Given the description of an element on the screen output the (x, y) to click on. 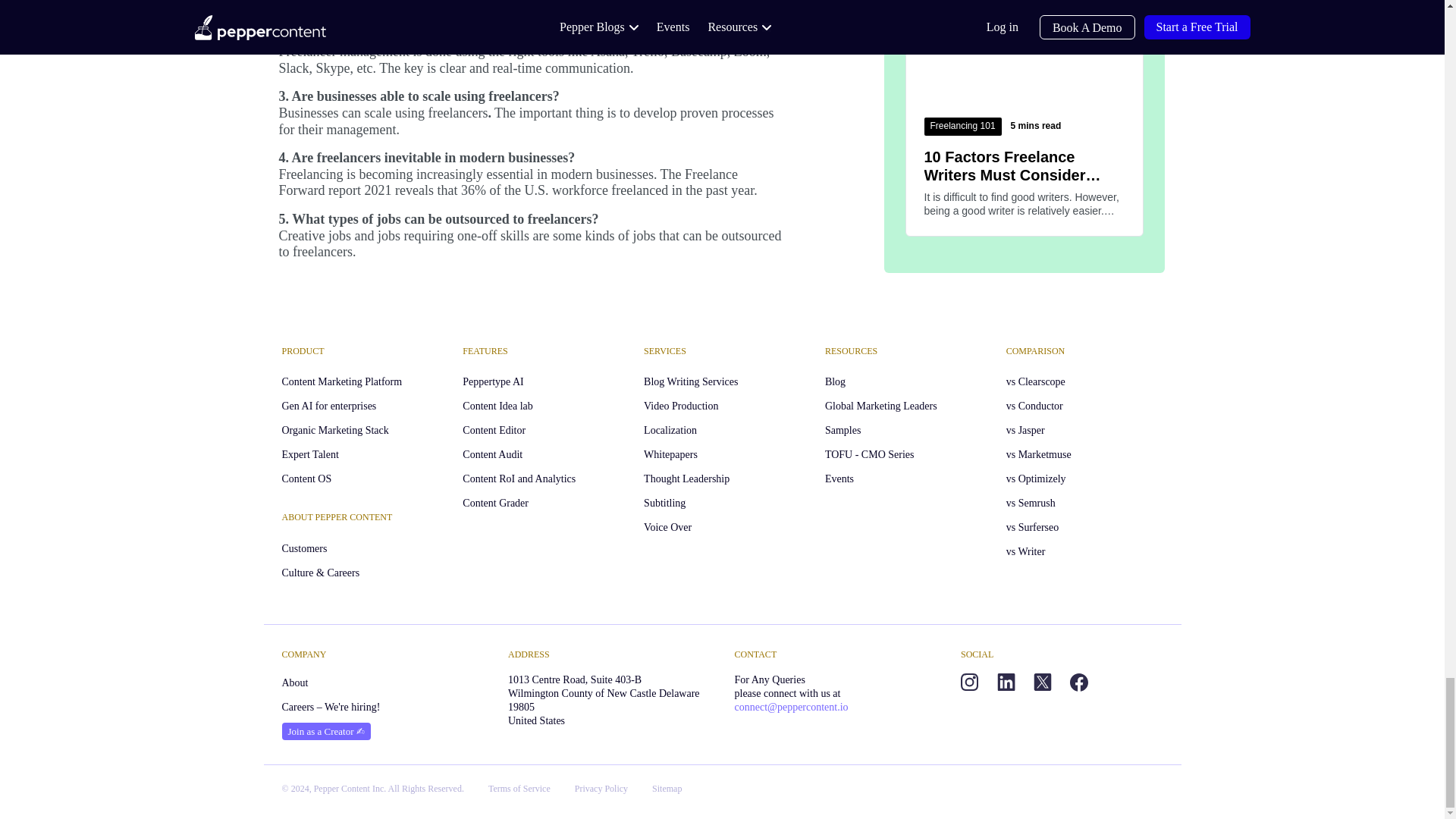
facebook (1078, 682)
instagram (969, 682)
linkedin (1005, 682)
twitter (1042, 682)
